Given the description of an element on the screen output the (x, y) to click on. 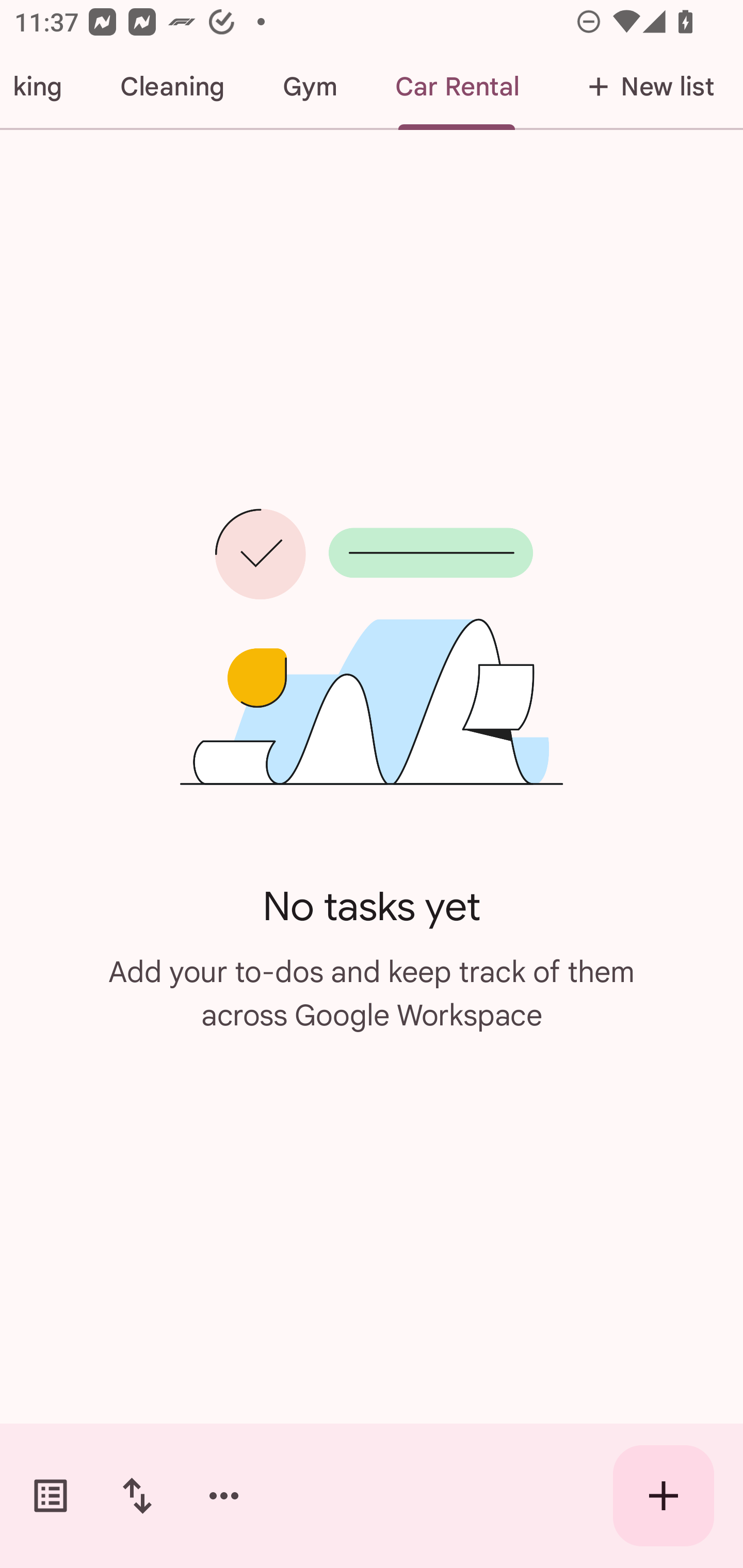
Hotel Booking (45, 86)
Cleaning (171, 86)
Gym (309, 86)
New list (645, 86)
Switch task lists (50, 1495)
Create new task (663, 1495)
Change sort order (136, 1495)
More options (223, 1495)
